Given the description of an element on the screen output the (x, y) to click on. 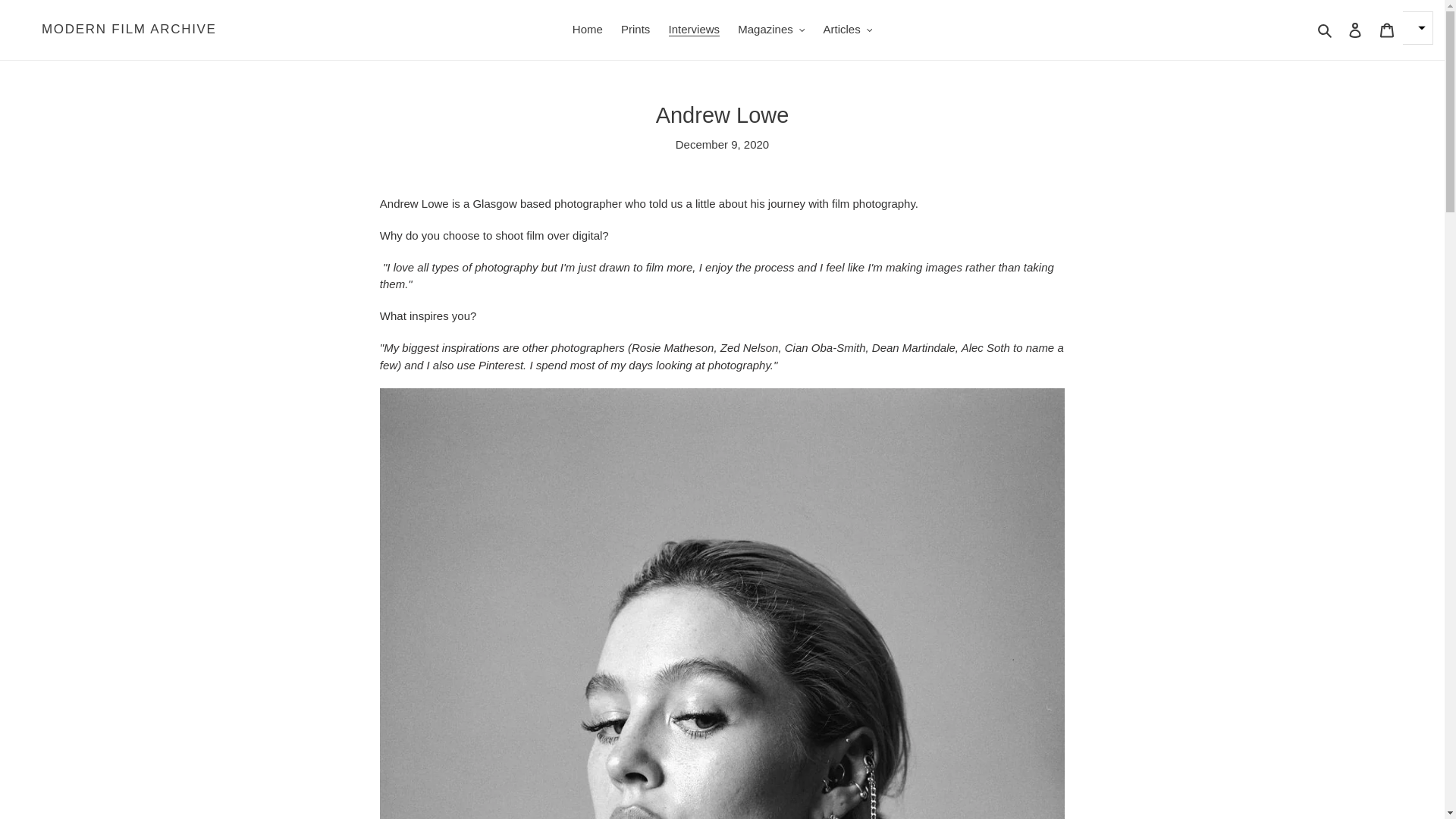
Cart (1387, 29)
Home (587, 29)
Prints (635, 29)
Interviews (694, 29)
Search (1326, 29)
Log in (1355, 29)
Magazines (771, 29)
MODERN FILM ARCHIVE (129, 29)
Articles (847, 29)
